Given the description of an element on the screen output the (x, y) to click on. 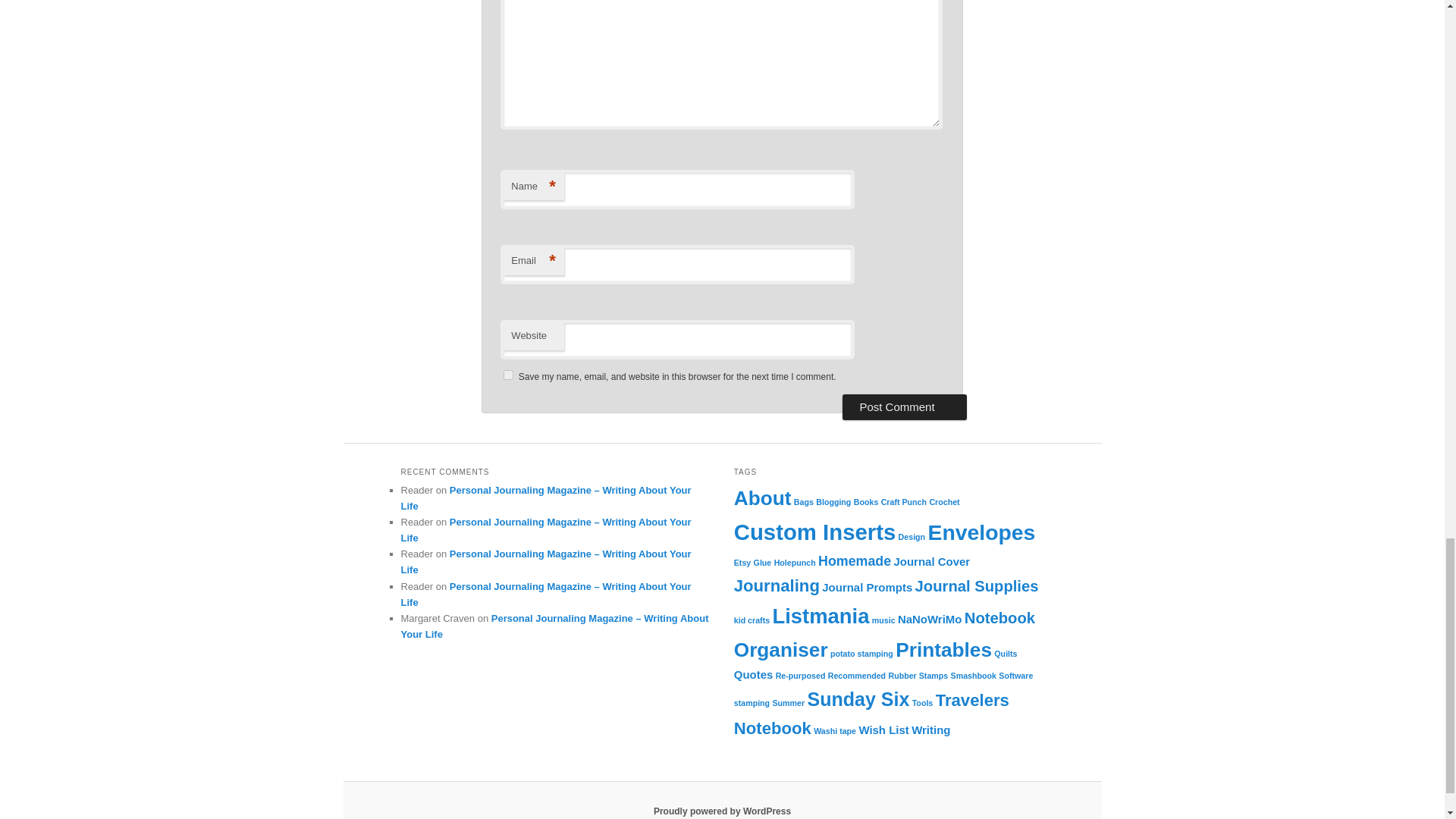
Blogging (832, 501)
Custom Inserts (814, 531)
Post Comment (904, 406)
Books (866, 501)
About (762, 497)
Post Comment (904, 406)
Craft Punch (903, 501)
yes (508, 375)
Semantic Personal Publishing Platform (721, 810)
Crochet (943, 501)
Bags (803, 501)
